Given the description of an element on the screen output the (x, y) to click on. 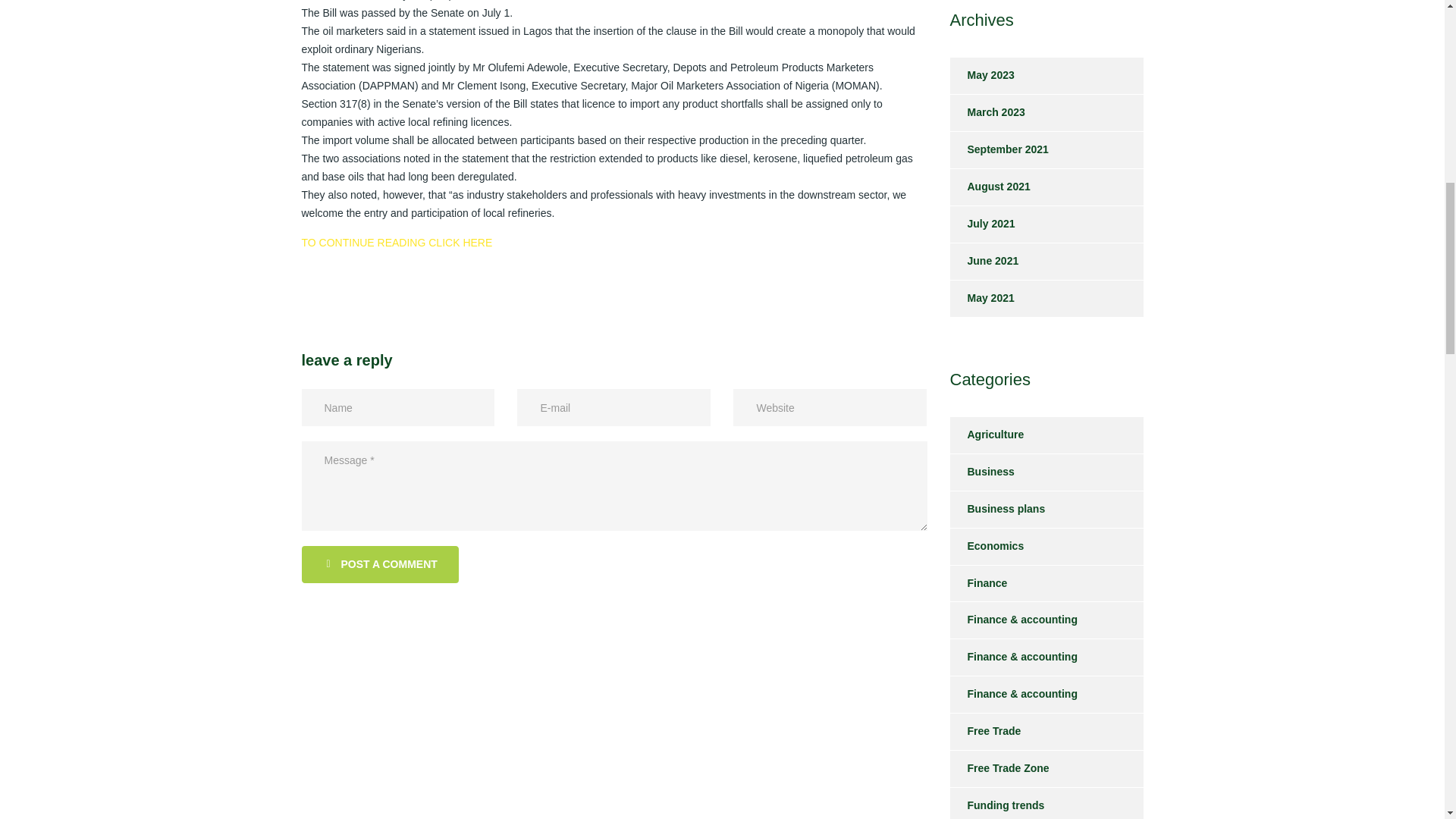
July 2021 (981, 224)
May 2021 (981, 298)
June 2021 (983, 261)
Business plans (997, 509)
August 2021 (989, 186)
September 2021 (998, 149)
POST A COMMENT (379, 564)
TO CONTINUE READING CLICK HERE (397, 242)
Agriculture (986, 434)
Business (981, 472)
March 2023 (987, 113)
May 2023 (981, 75)
